Given the description of an element on the screen output the (x, y) to click on. 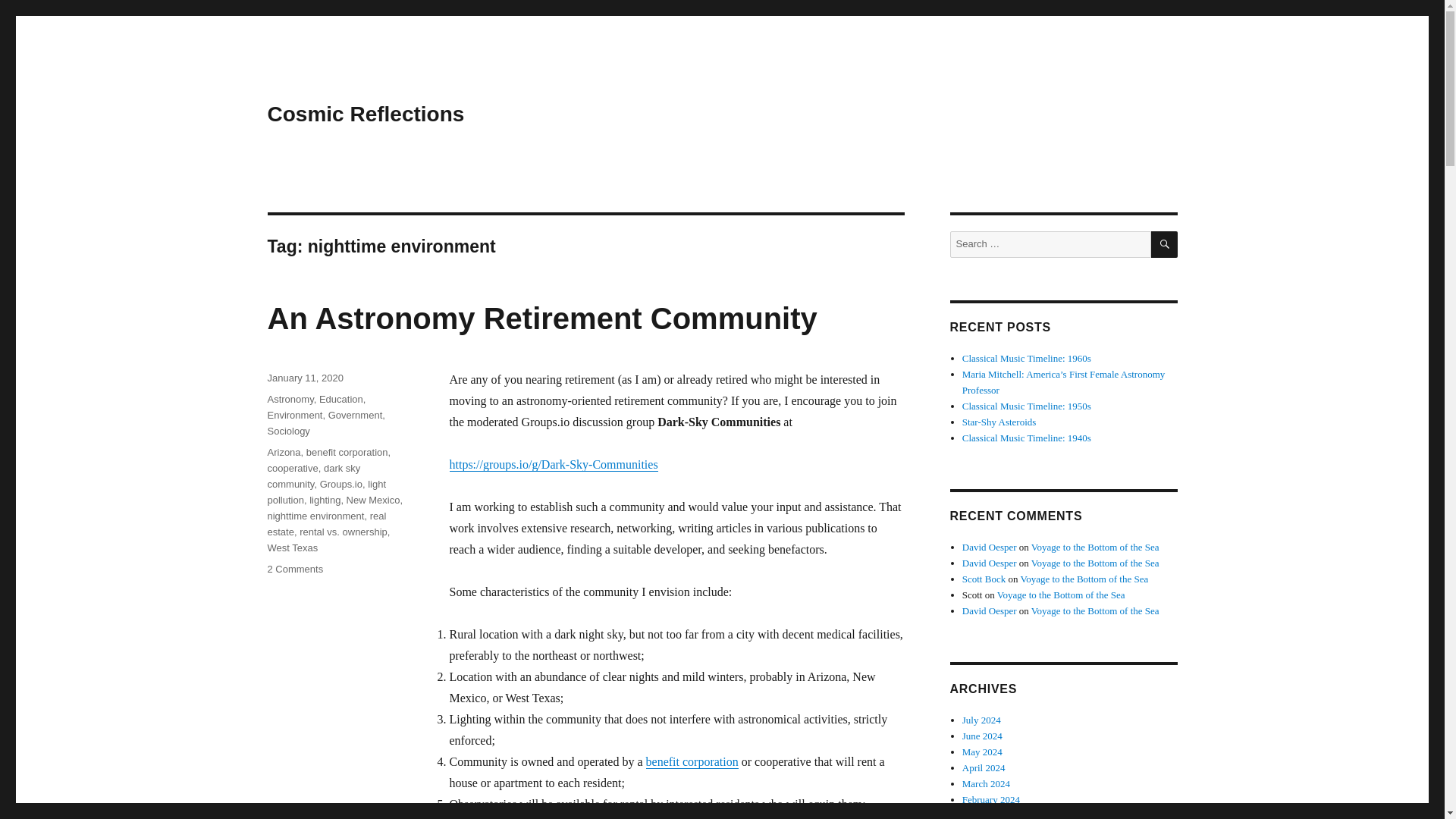
benefit corporation (346, 451)
An Astronomy Retirement Community (541, 318)
Arizona (282, 451)
Astronomy (289, 398)
dark sky community (312, 475)
Sociology (287, 430)
West Texas (291, 547)
rental vs. ownership (343, 531)
lighting (324, 500)
January 11, 2020 (304, 378)
cooperative (291, 468)
nighttime environment (315, 515)
light pollution (325, 492)
Education (340, 398)
real estate (325, 523)
